Given the description of an element on the screen output the (x, y) to click on. 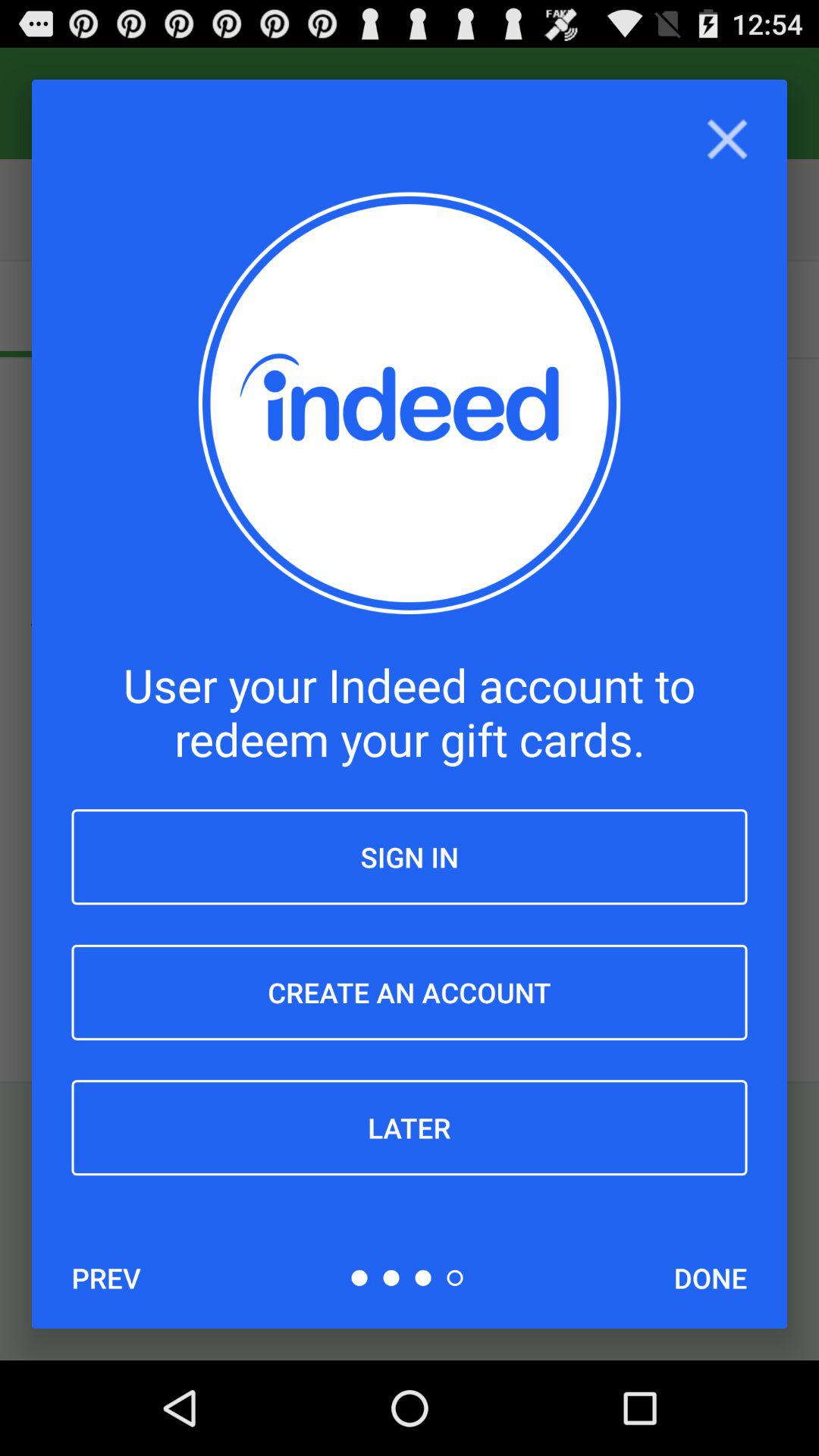
close window (727, 139)
